Given the description of an element on the screen output the (x, y) to click on. 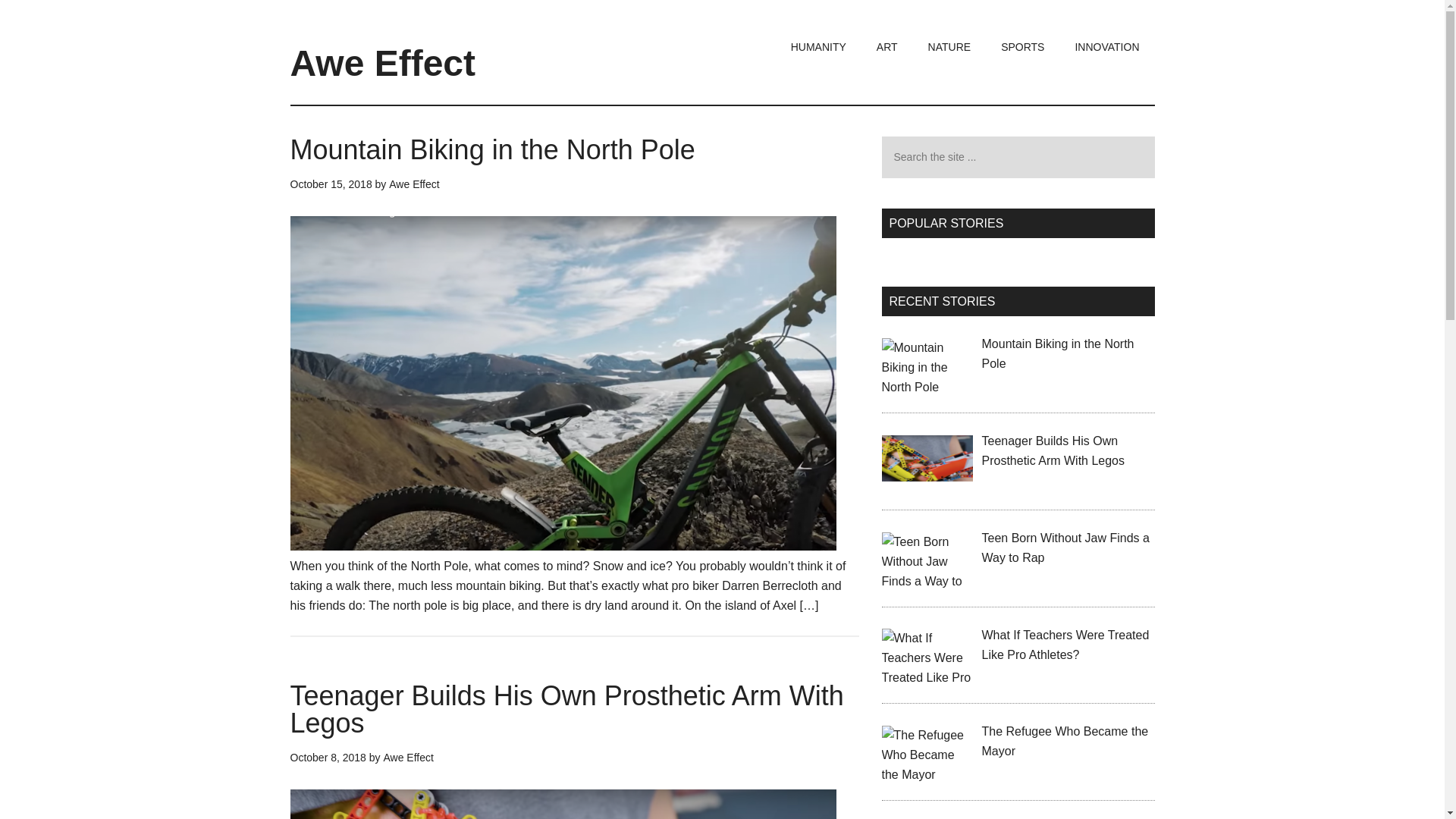
Teenager Builds His Own Prosthetic Arm With Legos (1052, 450)
Teen Born Without Jaw Finds a Way to Rap (1064, 547)
Awe Effect (413, 184)
Mountain Biking in the North Pole (1057, 353)
Awe Effect (382, 63)
Awe Effect (407, 757)
What If Teachers Were Treated Like Pro Athletes? (1064, 644)
NATURE (949, 46)
The Refugee Who Became the Mayor (1064, 740)
